Given the description of an element on the screen output the (x, y) to click on. 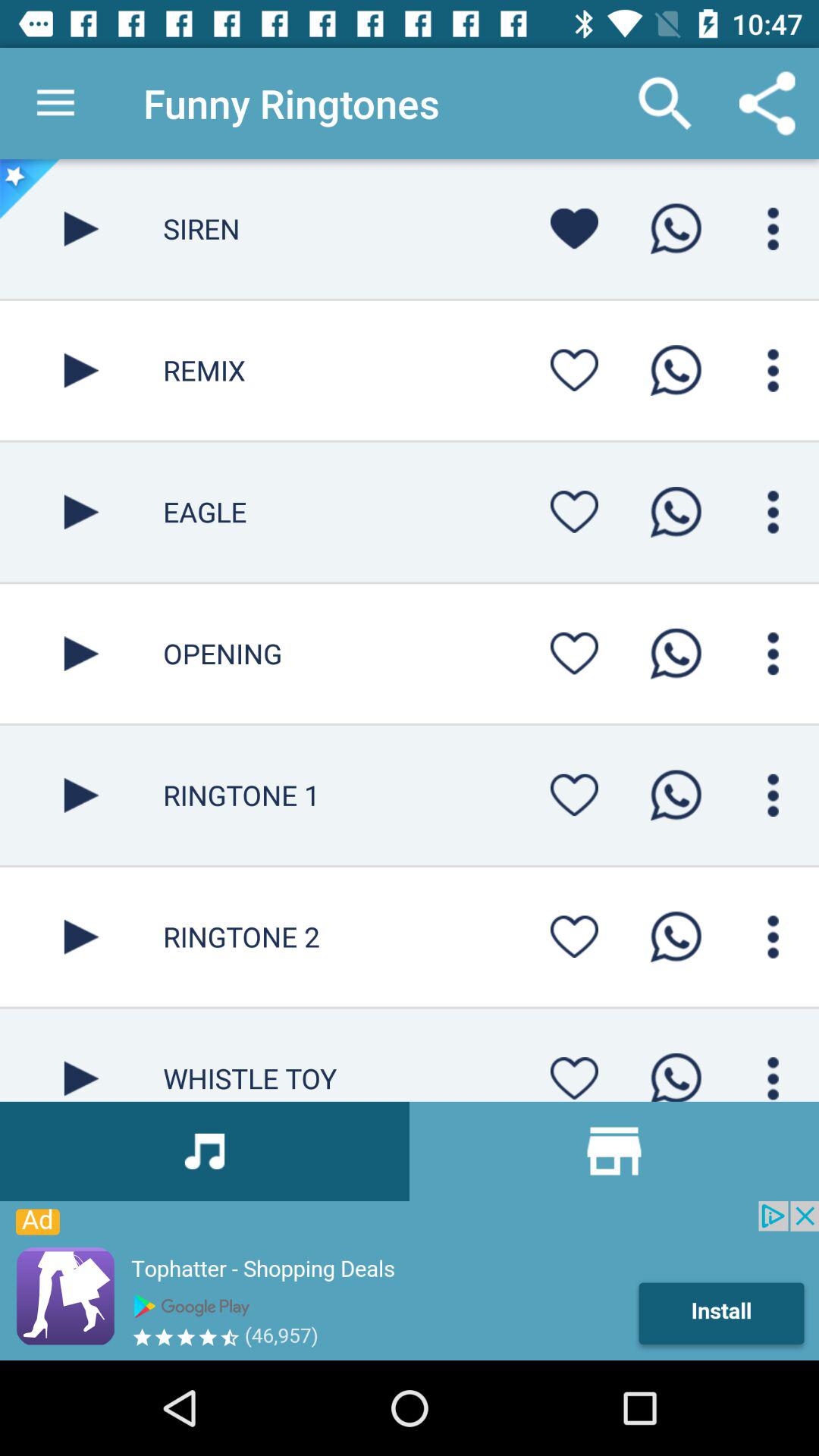
favorite button (574, 511)
